Given the description of an element on the screen output the (x, y) to click on. 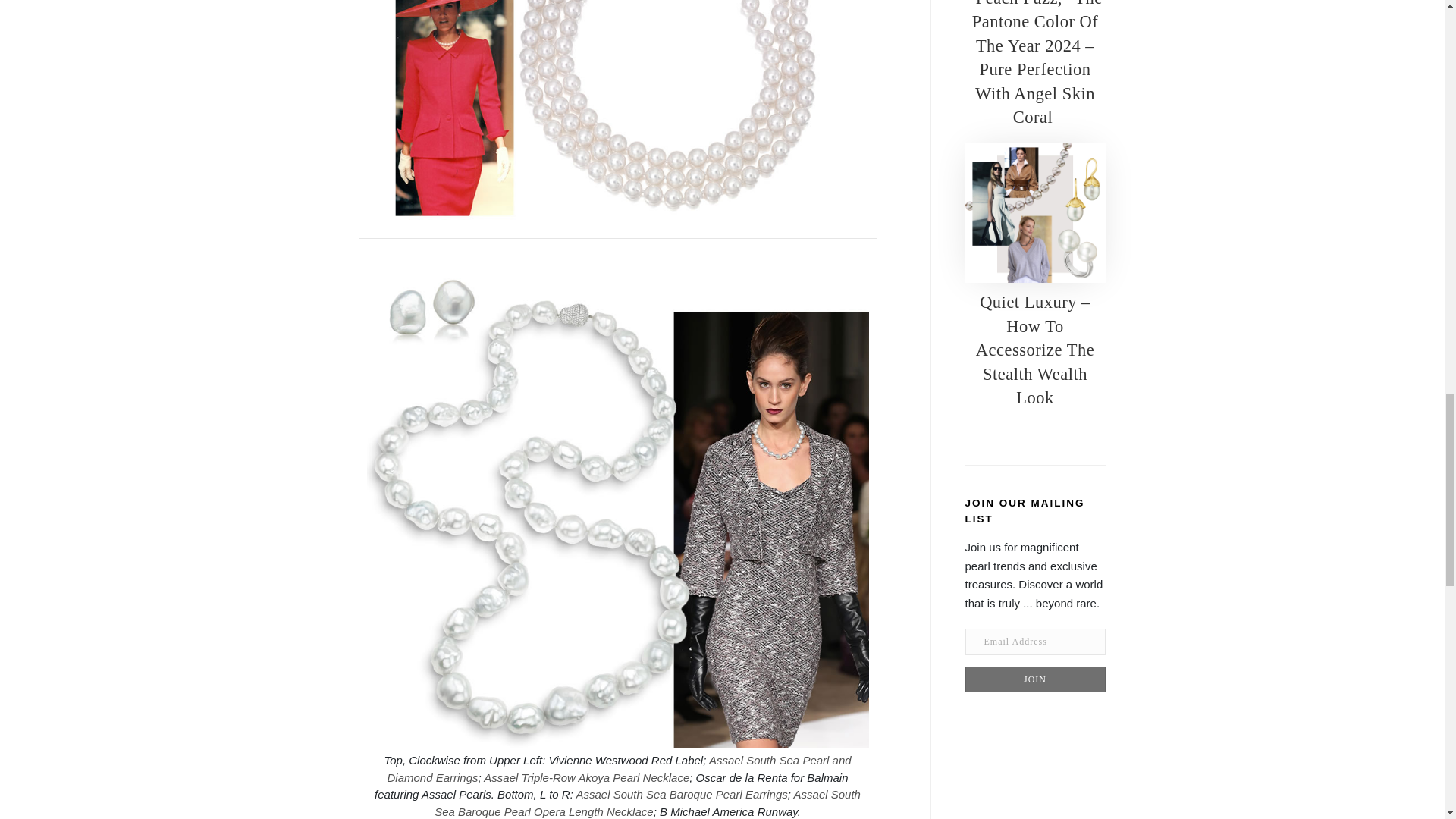
Assael Triple-Row Akoya Pearl Necklace (585, 776)
Assael South Sea Pearl and Diamond Earrings (618, 768)
Assael South Sea Baroque Pearl Earrings (681, 793)
Assael South Sea Baroque Pearl Opera Length Necklace (646, 802)
JOIN (1034, 679)
